Given the description of an element on the screen output the (x, y) to click on. 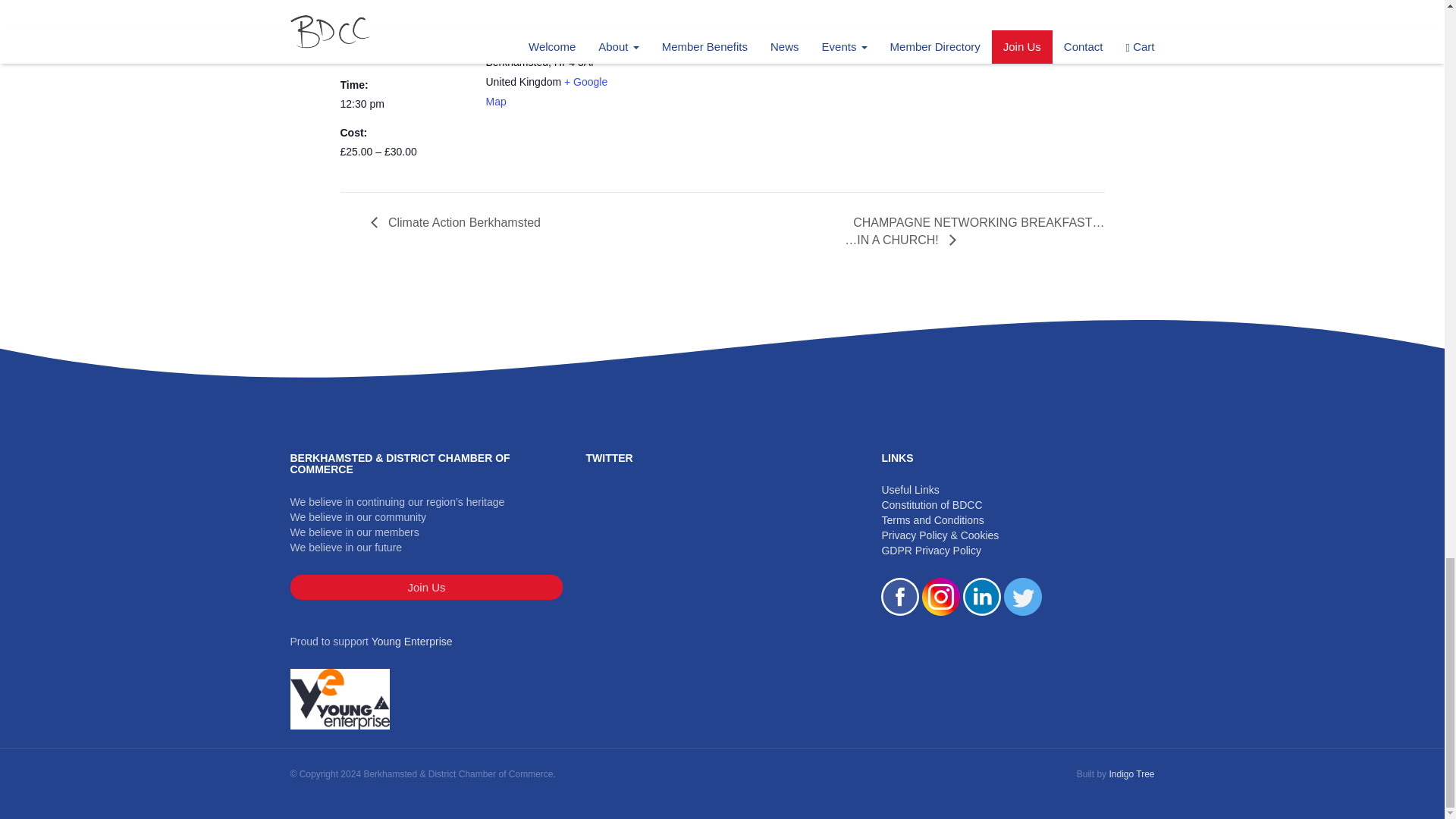
Young Enterprise (411, 641)
Climate Action Berkhamsted (458, 222)
Terms and Conditions (932, 520)
Constitution of BDCC (930, 504)
Join Us (425, 586)
Berkhamsted Town Hall (540, 21)
GDPR Privacy Policy (929, 550)
Useful Links (909, 490)
